Given the description of an element on the screen output the (x, y) to click on. 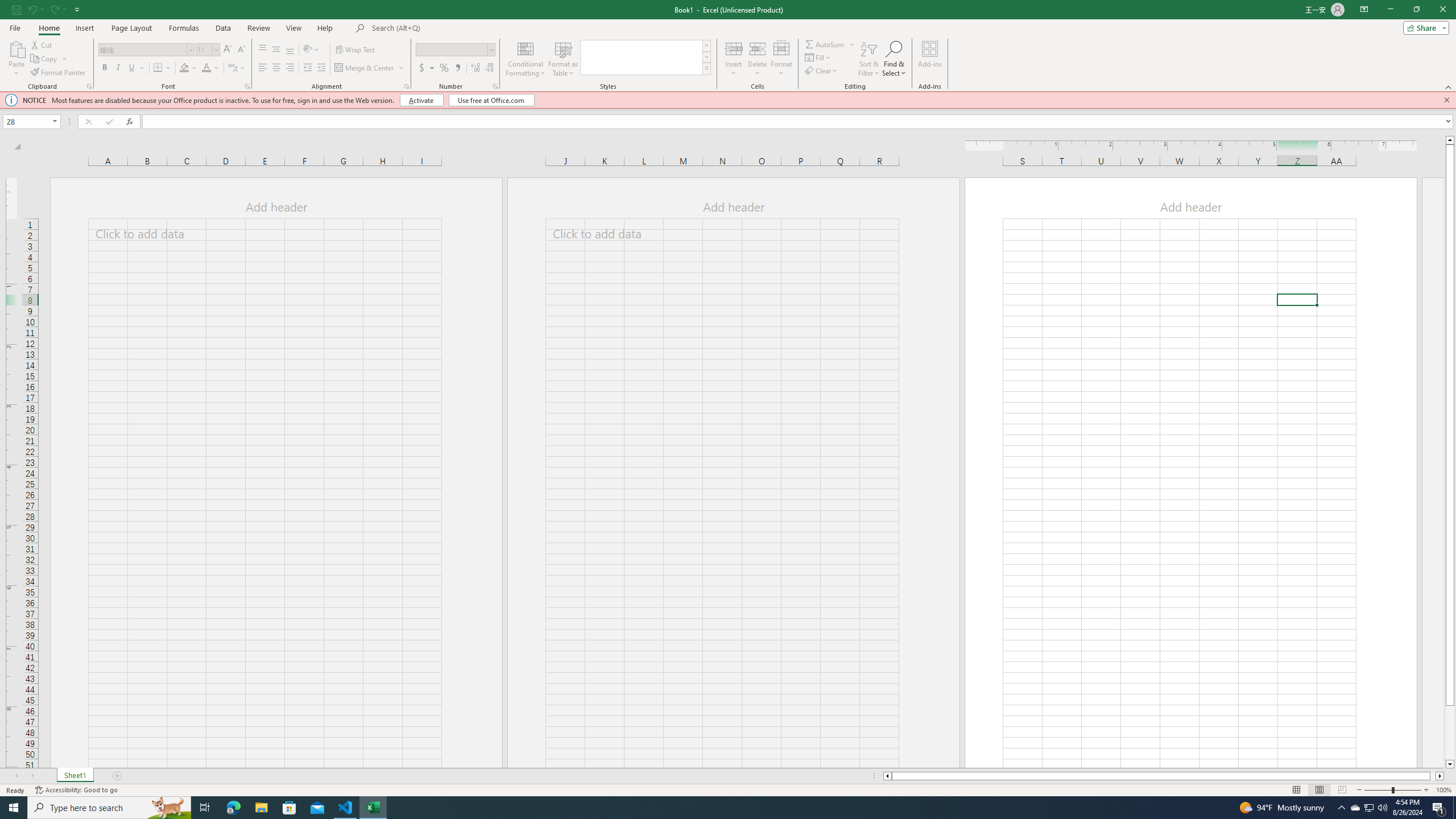
Format (781, 58)
AutoSum (830, 44)
Number Format (455, 49)
Activate (422, 100)
Underline (136, 67)
Fill Color (188, 67)
Decrease Font Size (240, 49)
Fill (818, 56)
